Given the description of an element on the screen output the (x, y) to click on. 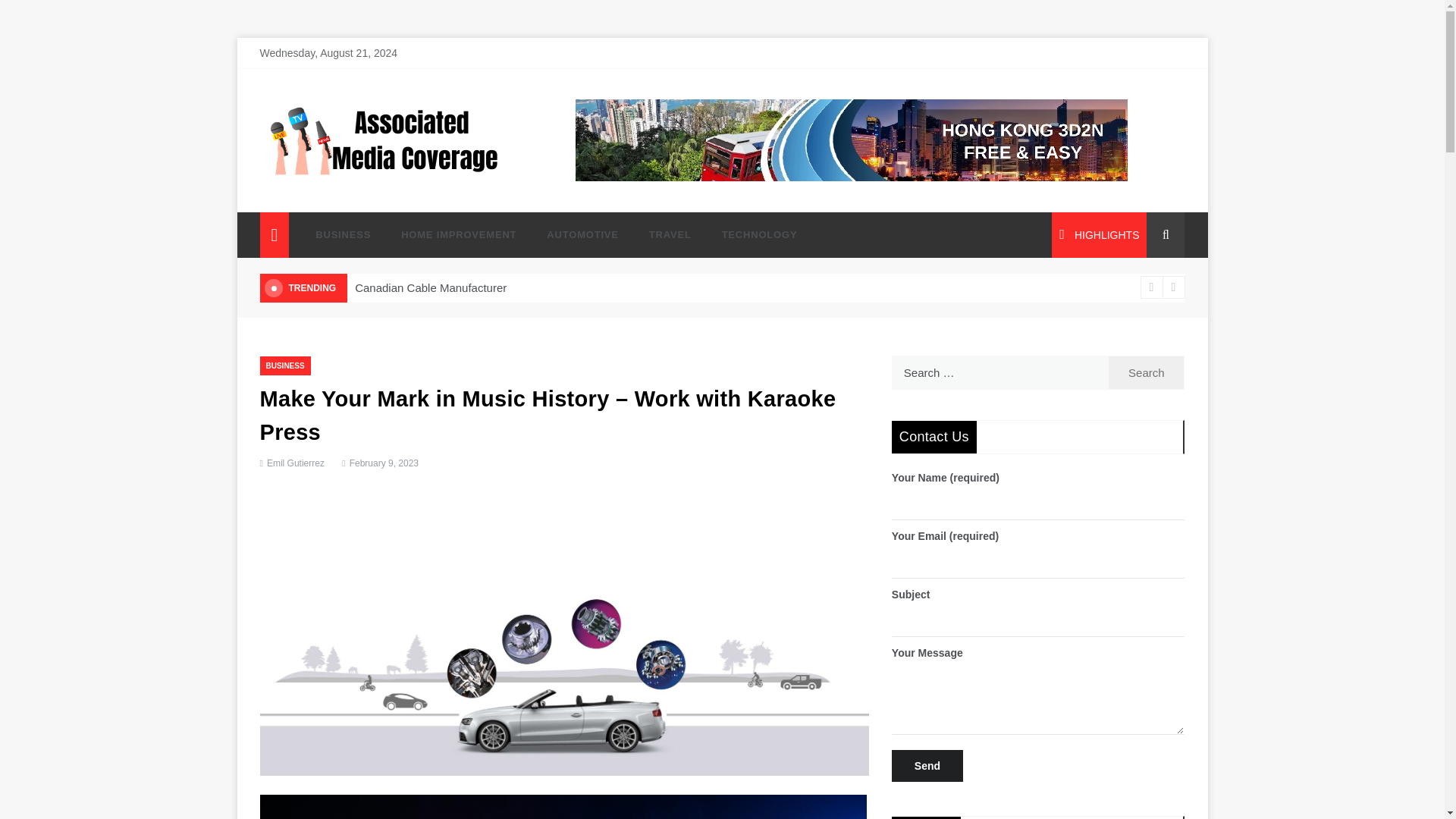
Emil Gutierrez (295, 462)
HOME IMPROVEMENT (458, 234)
AUTOMOTIVE (582, 234)
Search (1146, 372)
Canadian Cable Manufacturer (430, 287)
BUSINESS (342, 234)
Send (926, 766)
HIGHLIGHTS (1099, 234)
TRAVEL (669, 234)
